Given the description of an element on the screen output the (x, y) to click on. 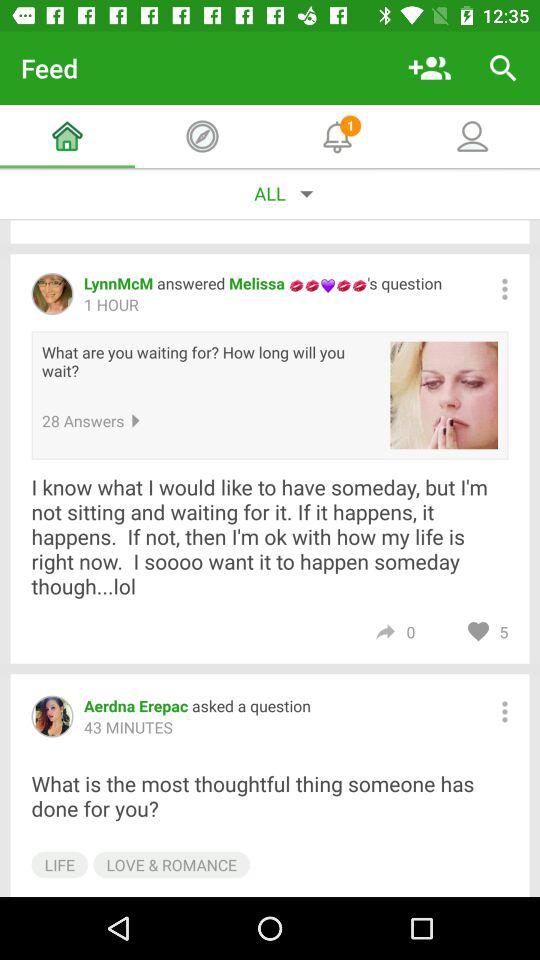
launch the icon next to the what are you (443, 395)
